Given the description of an element on the screen output the (x, y) to click on. 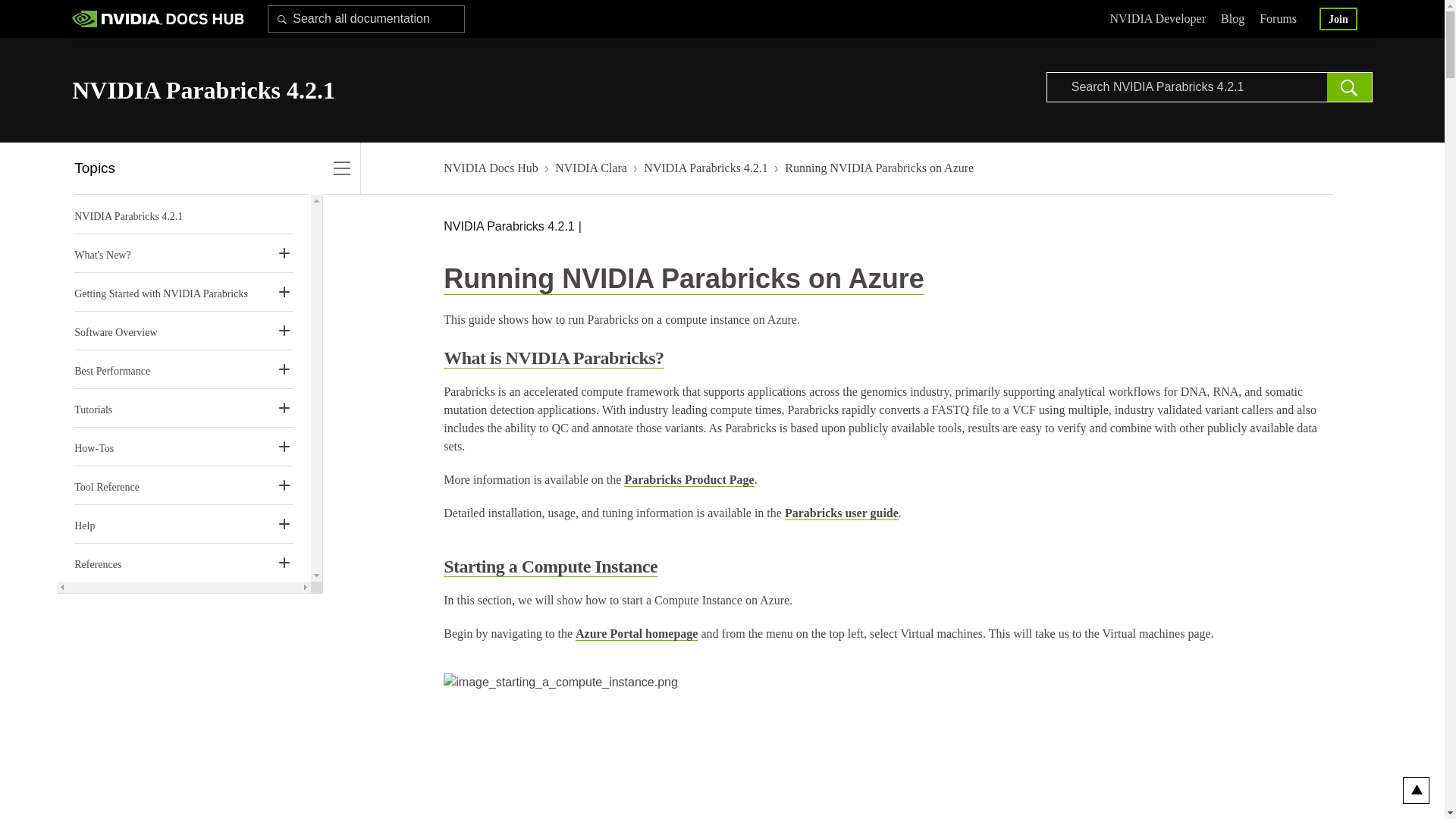
Starting a Compute Instance (551, 566)
Parabricks Product Page (689, 479)
What's New? (102, 254)
Parabricks user guide (841, 513)
What is NVIDIA Parabricks? (553, 358)
NVIDIA Developer (1157, 20)
Submit Search (1349, 87)
NVIDIA Clara (590, 167)
Azure Portal homepage (636, 633)
Submit Search (282, 18)
